Given the description of an element on the screen output the (x, y) to click on. 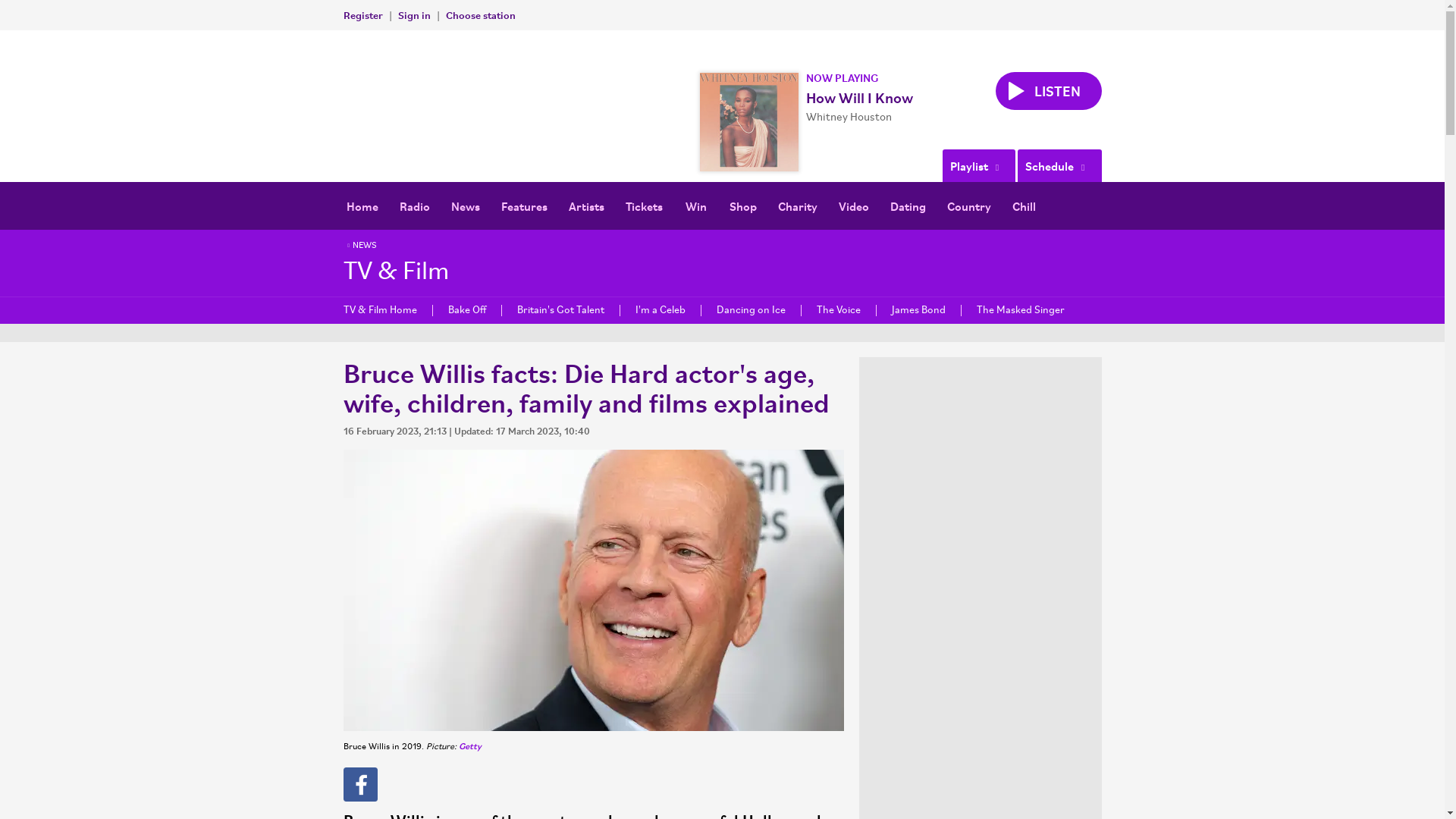
Artists (585, 205)
The Masked Singer (1018, 310)
Tickets (643, 205)
News (464, 205)
Schedule (1058, 165)
NEWS (359, 245)
Britain's Got Talent (559, 310)
Charity (797, 205)
Country (968, 205)
Chill (1023, 205)
